Given the description of an element on the screen output the (x, y) to click on. 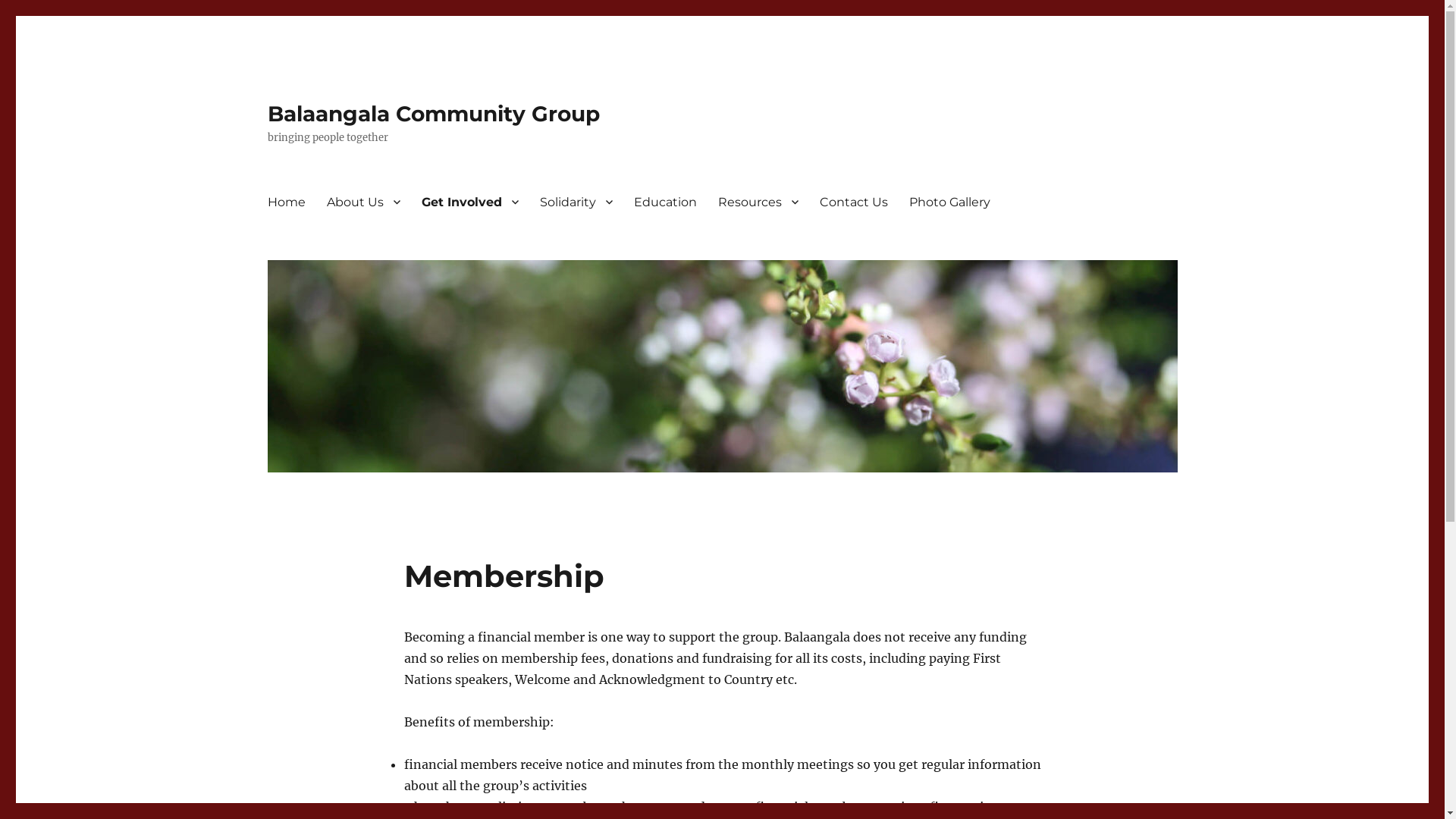
Home Element type: text (285, 201)
Photo Gallery Element type: text (948, 201)
Balaangala Community Group Element type: text (432, 113)
Get Involved Element type: text (470, 201)
Education Element type: text (665, 201)
About Us Element type: text (362, 201)
Solidarity Element type: text (576, 201)
Contact Us Element type: text (852, 201)
Resources Element type: text (757, 201)
